Given the description of an element on the screen output the (x, y) to click on. 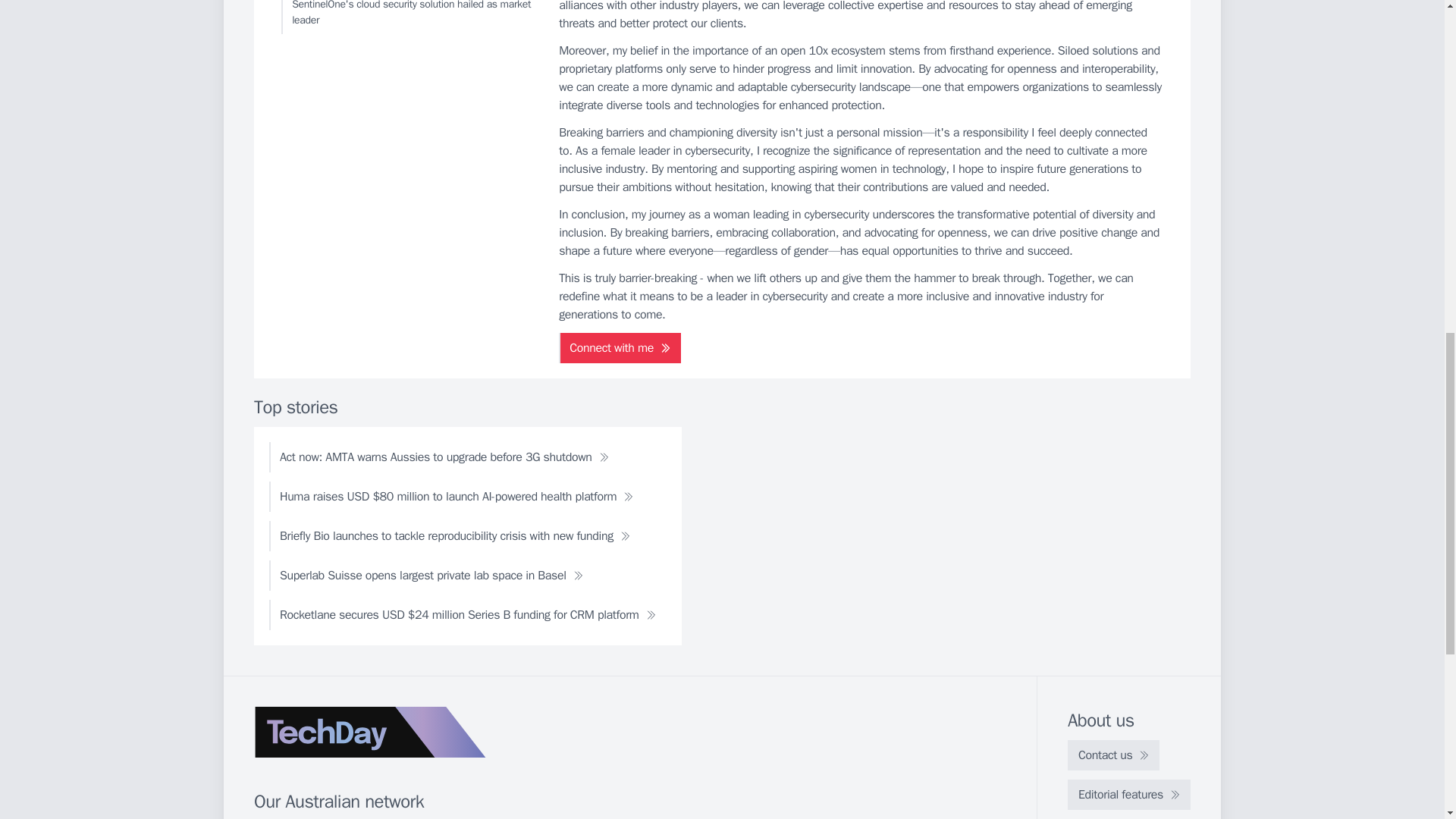
Connect with me (620, 347)
Superlab Suisse opens largest private lab space in Basel (431, 575)
Act now: AMTA warns Aussies to upgrade before 3G shutdown (444, 457)
